Given the description of an element on the screen output the (x, y) to click on. 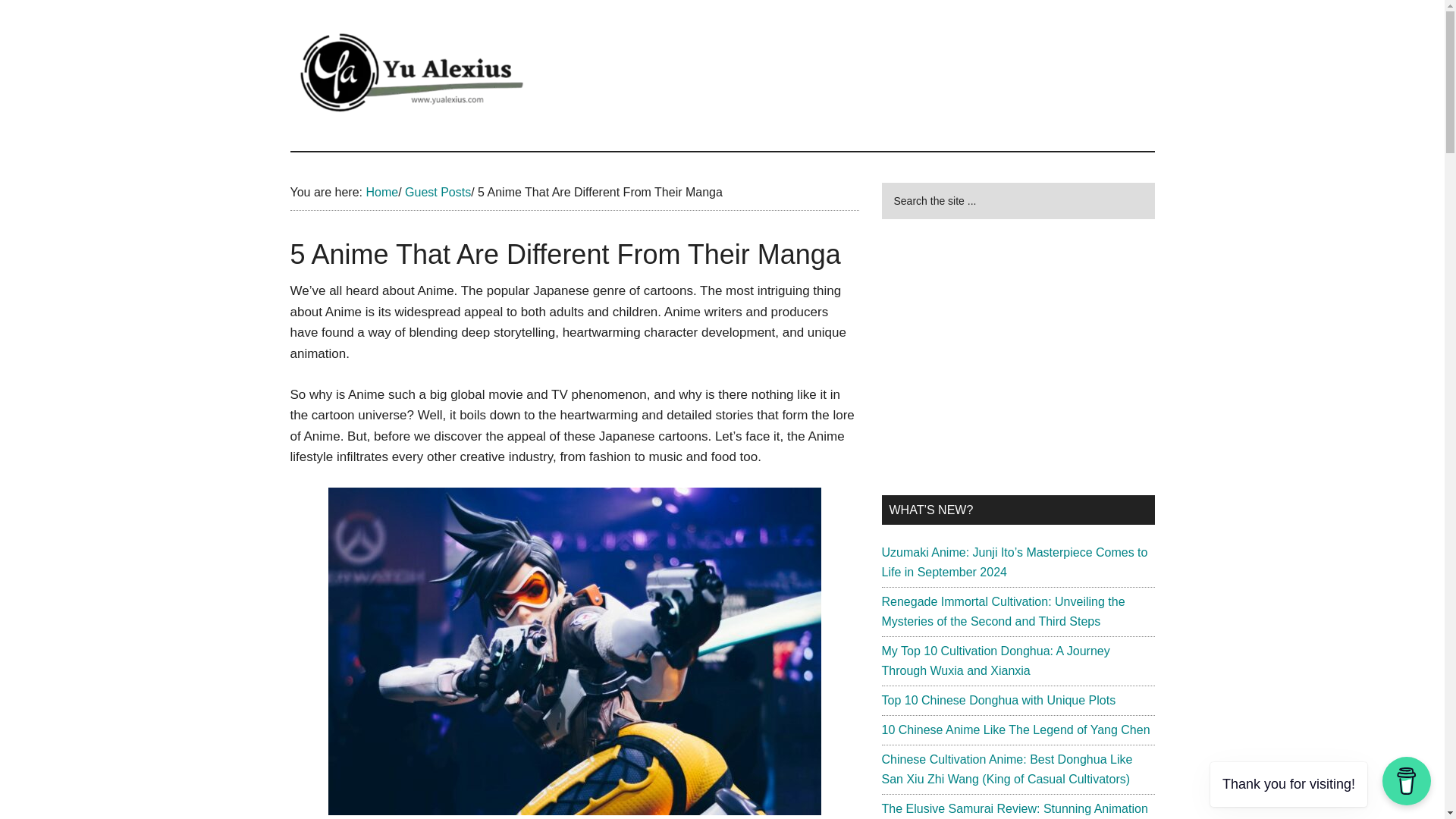
Home (381, 192)
10 Chinese Anime Like The Legend of Yang Chen (1015, 729)
Guest Posts (437, 192)
Top 10 Chinese Donghua with Unique Plots (997, 699)
